Given the description of an element on the screen output the (x, y) to click on. 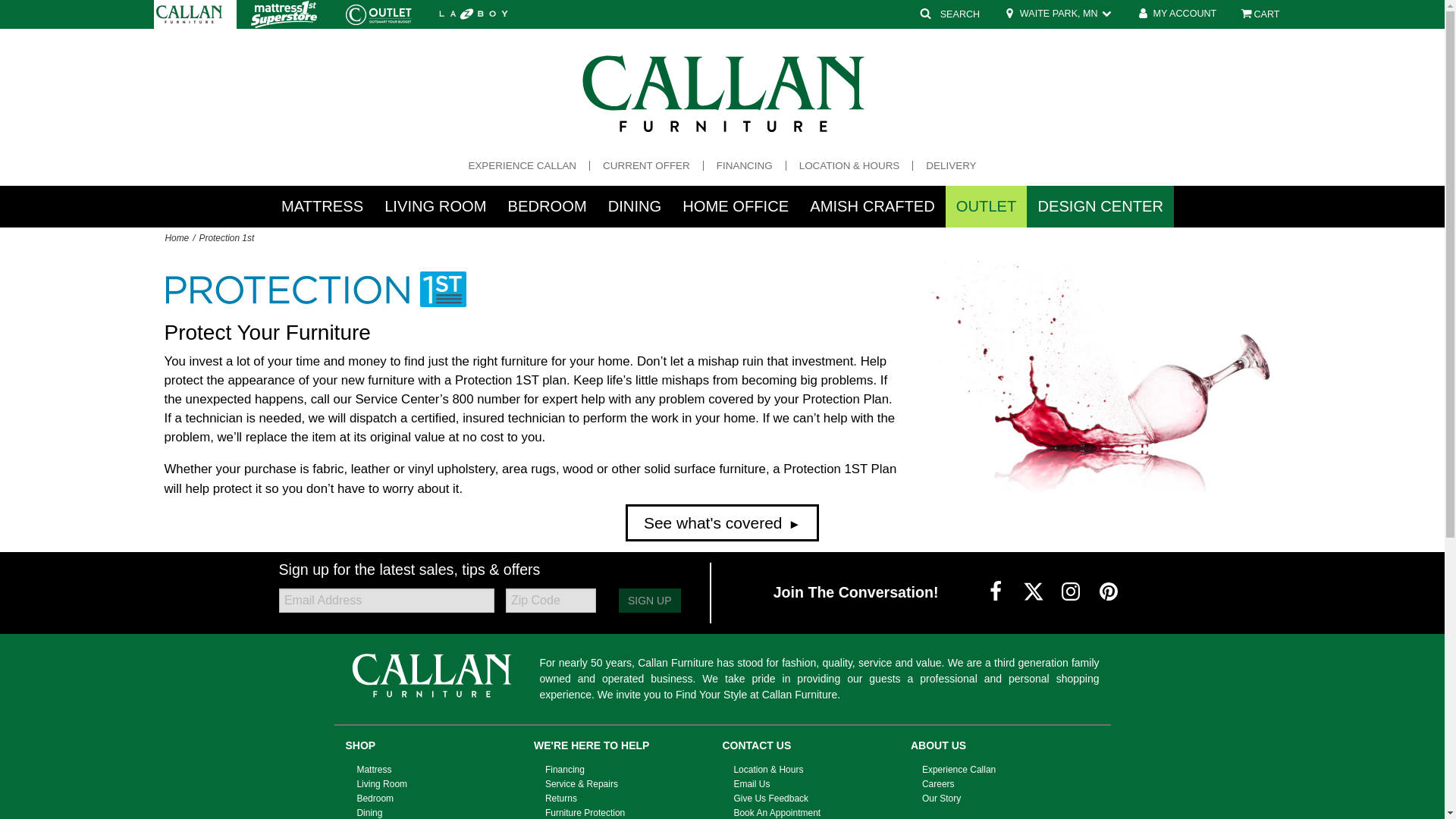
Store details (1057, 14)
Visit Our Instagram Page (1072, 592)
EXPERIENCE CALLAN (521, 165)
View Cart (1258, 14)
Visit Our Facebook Page (997, 592)
CART (1258, 14)
My Account (1176, 14)
CURRENT OFFER (646, 165)
Visit Our Pinterest Page (1108, 592)
FINANCING (744, 165)
MATTRESS (322, 205)
Visit Our Twitter Page (1034, 592)
DELIVERY (950, 165)
MY ACCOUNT (1176, 14)
